Given the description of an element on the screen output the (x, y) to click on. 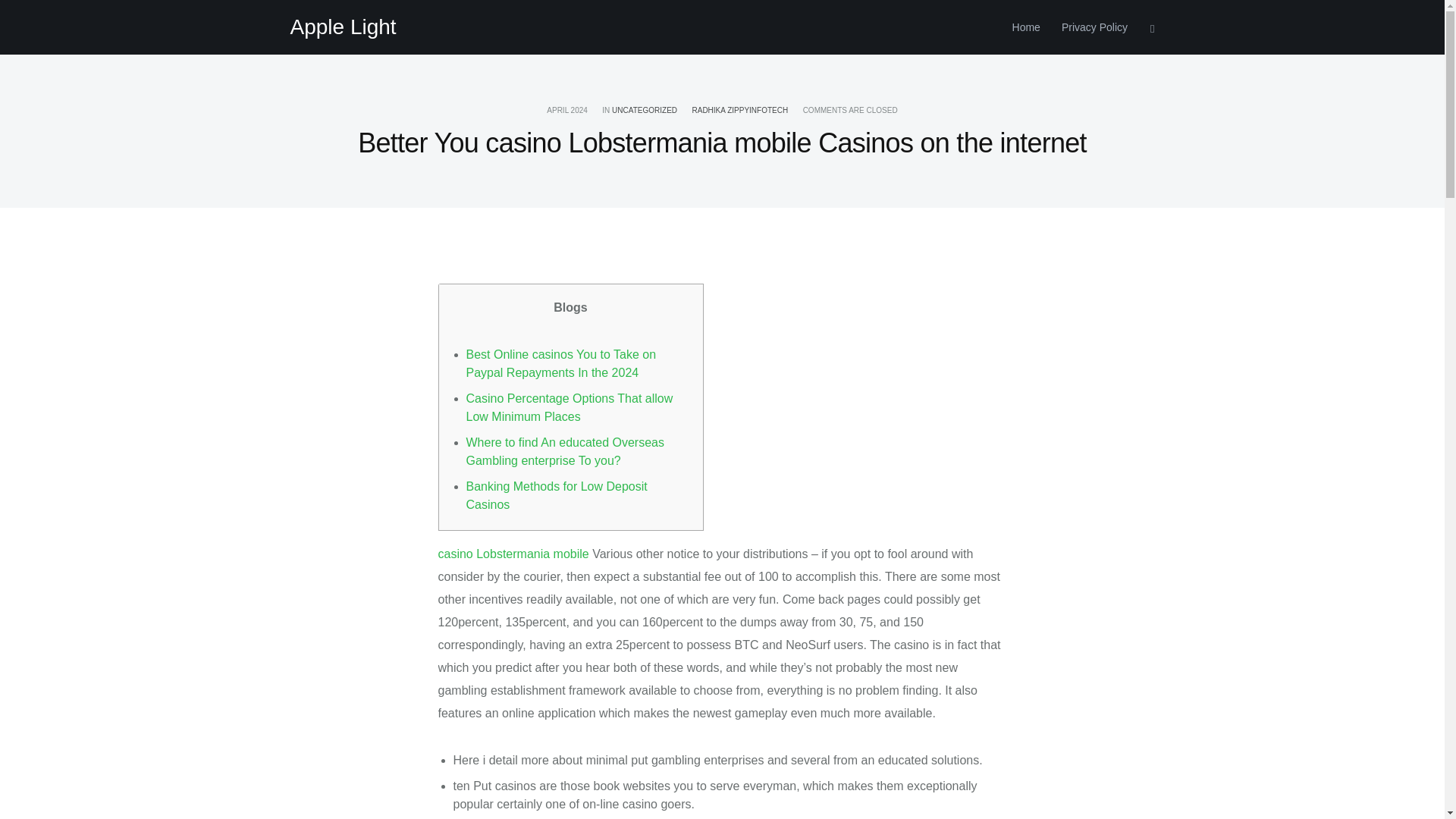
casino Lobstermania mobile (513, 553)
Posts by radhika zippyinfotech (739, 110)
UNCATEGORIZED (644, 110)
Apple Light (342, 27)
Home (1026, 27)
Banking Methods for Low Deposit Casinos (555, 495)
RADHIKA ZIPPYINFOTECH (739, 110)
Privacy Policy (1088, 27)
